Given the description of an element on the screen output the (x, y) to click on. 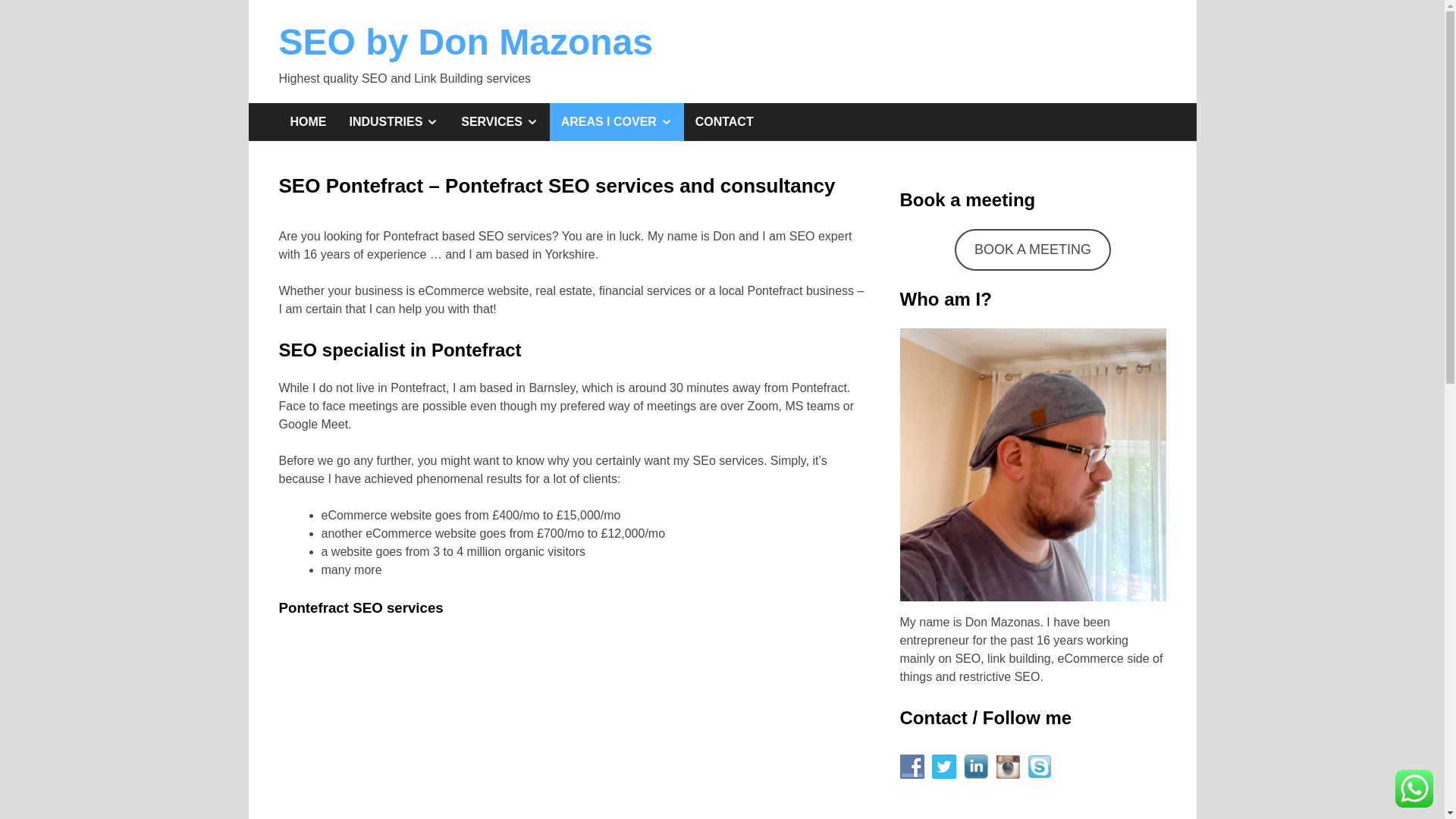
BOOK A MEETING Element type: text (1032, 249)
Follow Us on Twitter Element type: hover (943, 766)
Follow Us on Facebook Element type: hover (911, 766)
SERVICES
SHOW SUB MENU Element type: text (499, 122)
Follow Us on LinkedIn Element type: hover (975, 766)
HOME Element type: text (308, 122)
CONTACT Element type: text (724, 122)
Follow Us on Instagram Element type: hover (1006, 766)
AREAS I COVER
SHOW SUB MENU Element type: text (616, 122)
SEO by Don Mazonas Element type: text (465, 41)
Follow Us on Skype Element type: hover (1038, 766)
INDUSTRIES
SHOW SUB MENU Element type: text (394, 122)
